Given the description of an element on the screen output the (x, y) to click on. 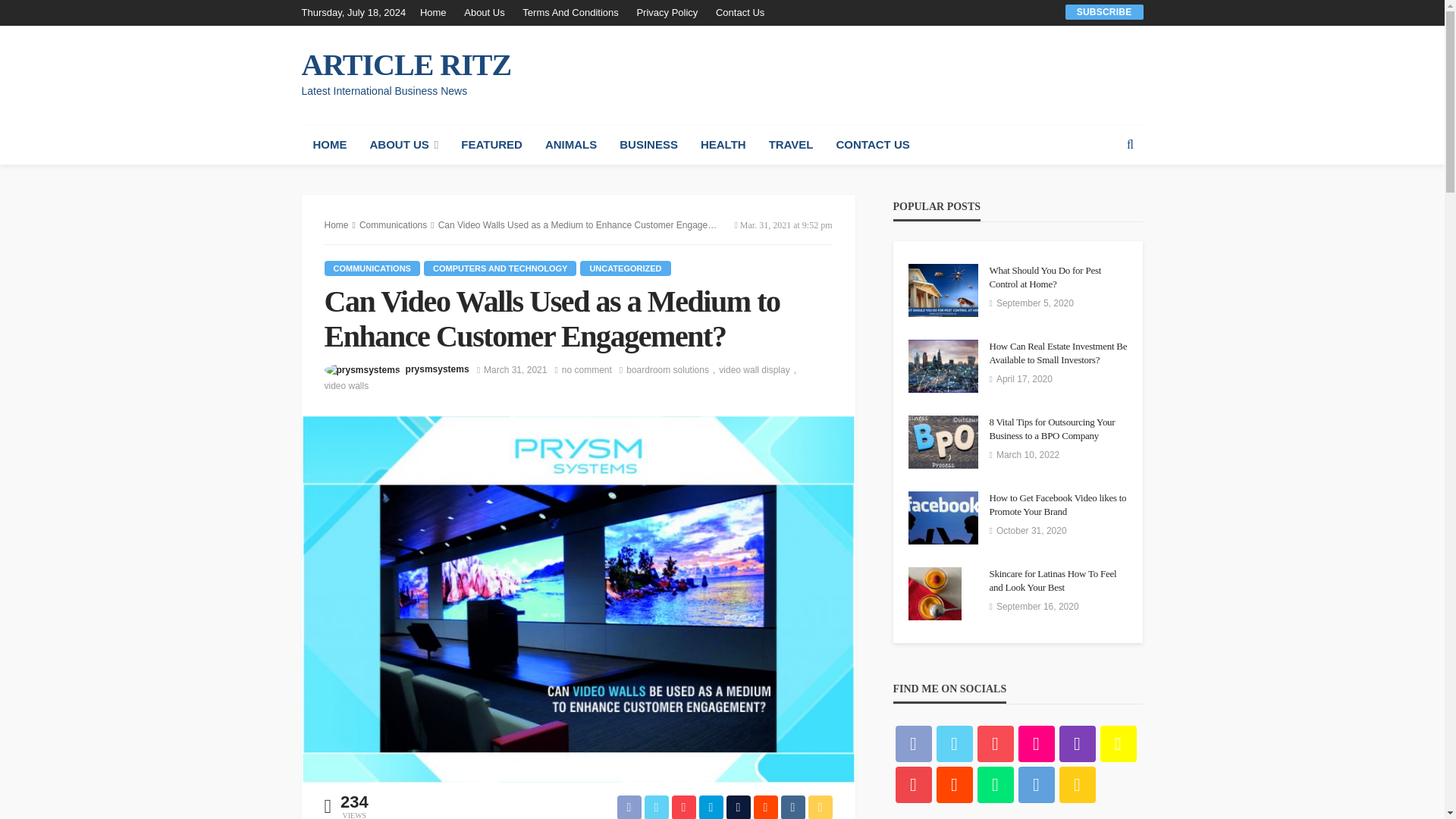
subscribe (1103, 11)
About Us (484, 12)
Contact Us (739, 12)
Privacy Policy (666, 12)
Communications (372, 268)
Terms And Conditions (570, 12)
Computers and Technology (499, 268)
Search (1130, 144)
video walls (346, 385)
boardroom solutions (672, 369)
Home (437, 12)
Uncategorized (624, 268)
SUBSCRIBE (1103, 11)
video wall display (759, 369)
